Given the description of an element on the screen output the (x, y) to click on. 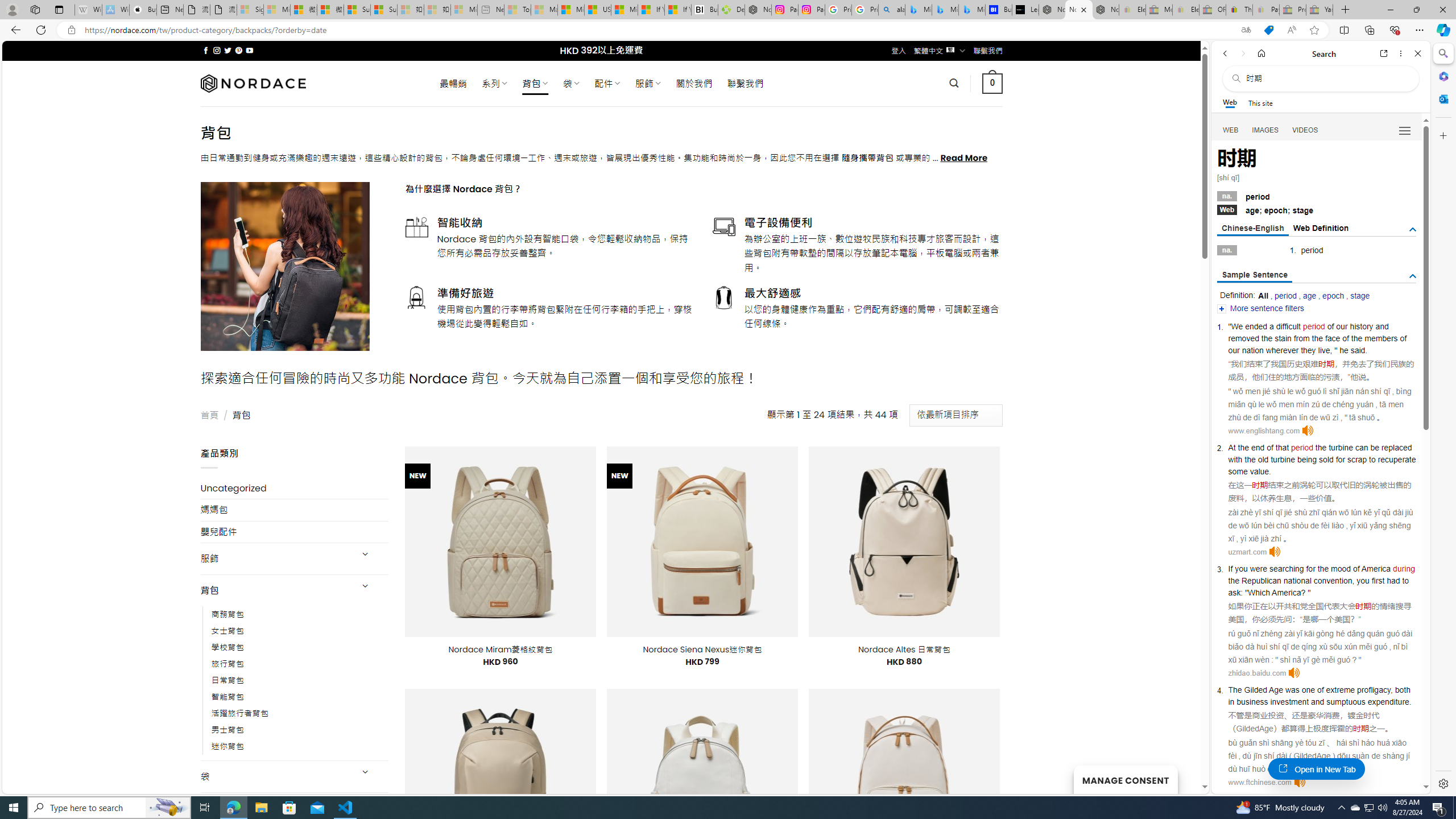
Follow on YouTube (249, 50)
one (1308, 689)
being (1307, 459)
Preferences (1403, 129)
wherever (1281, 349)
Microsoft Bing Travel - Shangri-La Hotel Bangkok (971, 9)
profligacy (1373, 689)
mood (1340, 568)
